Given the description of an element on the screen output the (x, y) to click on. 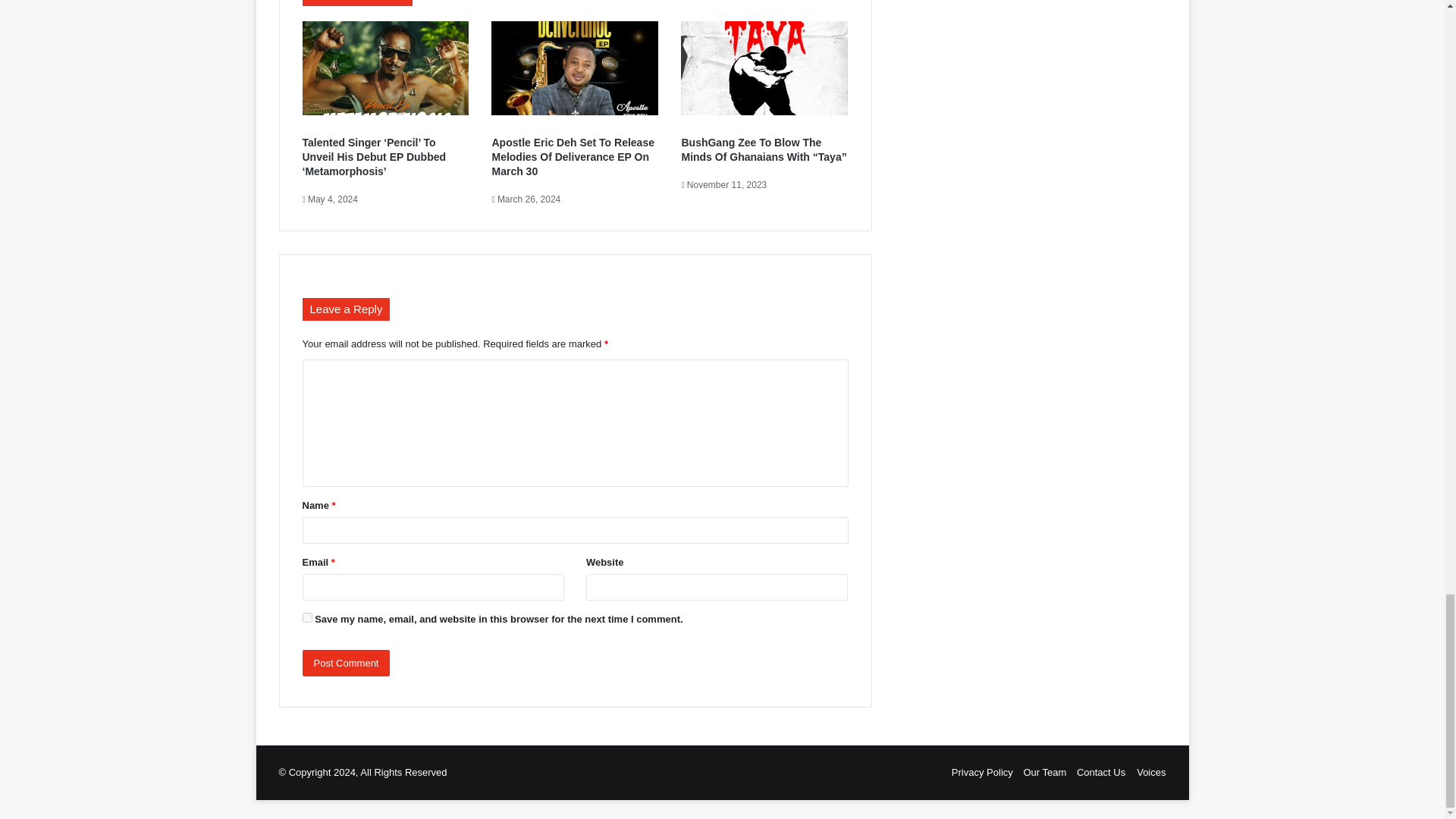
Post Comment (345, 663)
yes (306, 617)
